Given the description of an element on the screen output the (x, y) to click on. 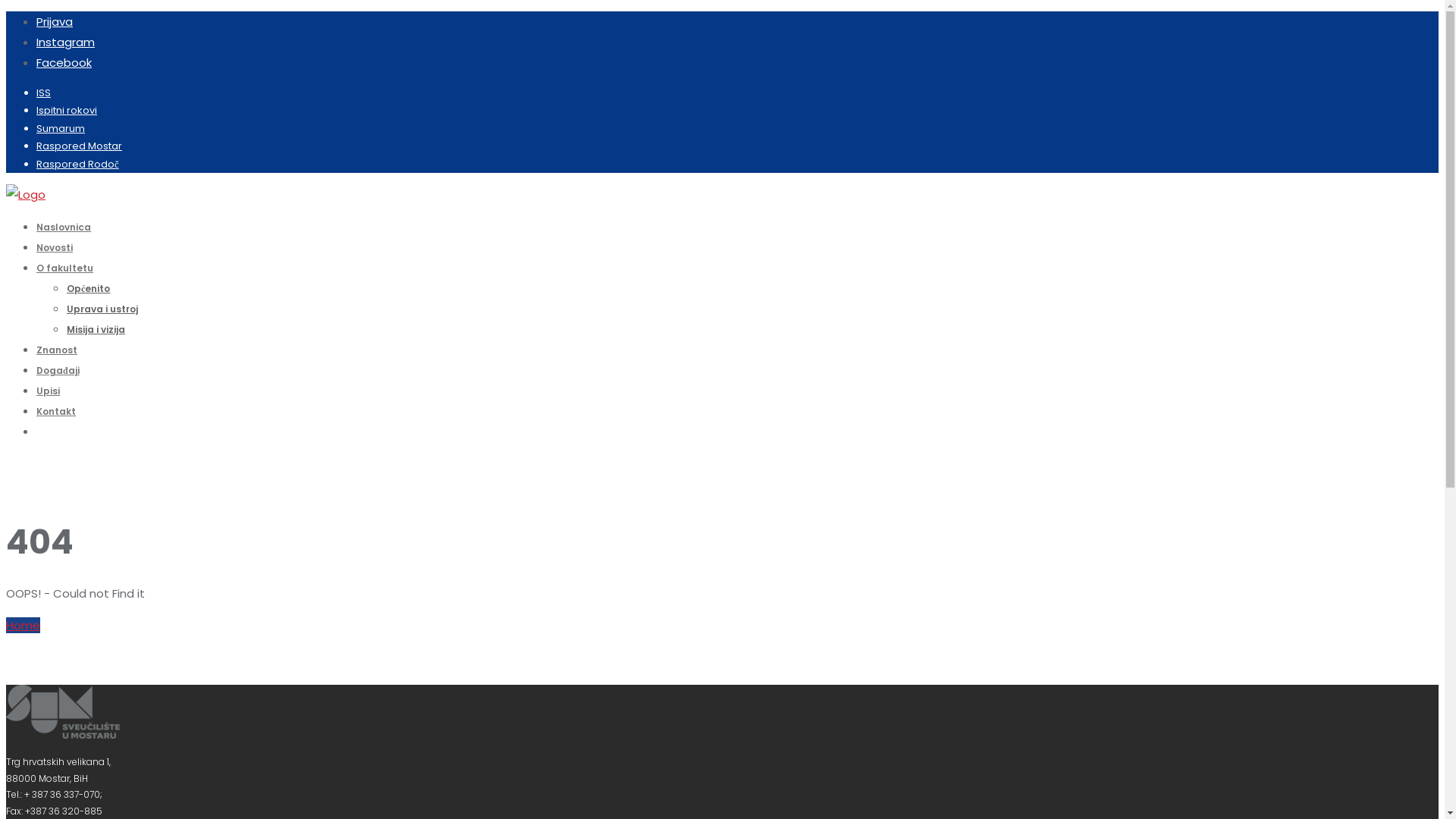
Instagram Element type: text (65, 42)
Raspored Mostar Element type: text (79, 145)
Ispitni rokovi Element type: text (66, 110)
Znanost Element type: text (56, 349)
O fakultetu Element type: text (64, 267)
Uprava i ustroj Element type: text (102, 308)
Naslovnica Element type: text (63, 226)
ISS Element type: text (43, 92)
Upisi Element type: text (47, 390)
Misija i vizija Element type: text (95, 329)
Home Element type: text (23, 625)
Prijava Element type: text (54, 21)
Facebook Element type: text (63, 62)
Sumarum Element type: text (60, 128)
Novosti Element type: text (54, 247)
Kontakt Element type: text (55, 410)
